Given the description of an element on the screen output the (x, y) to click on. 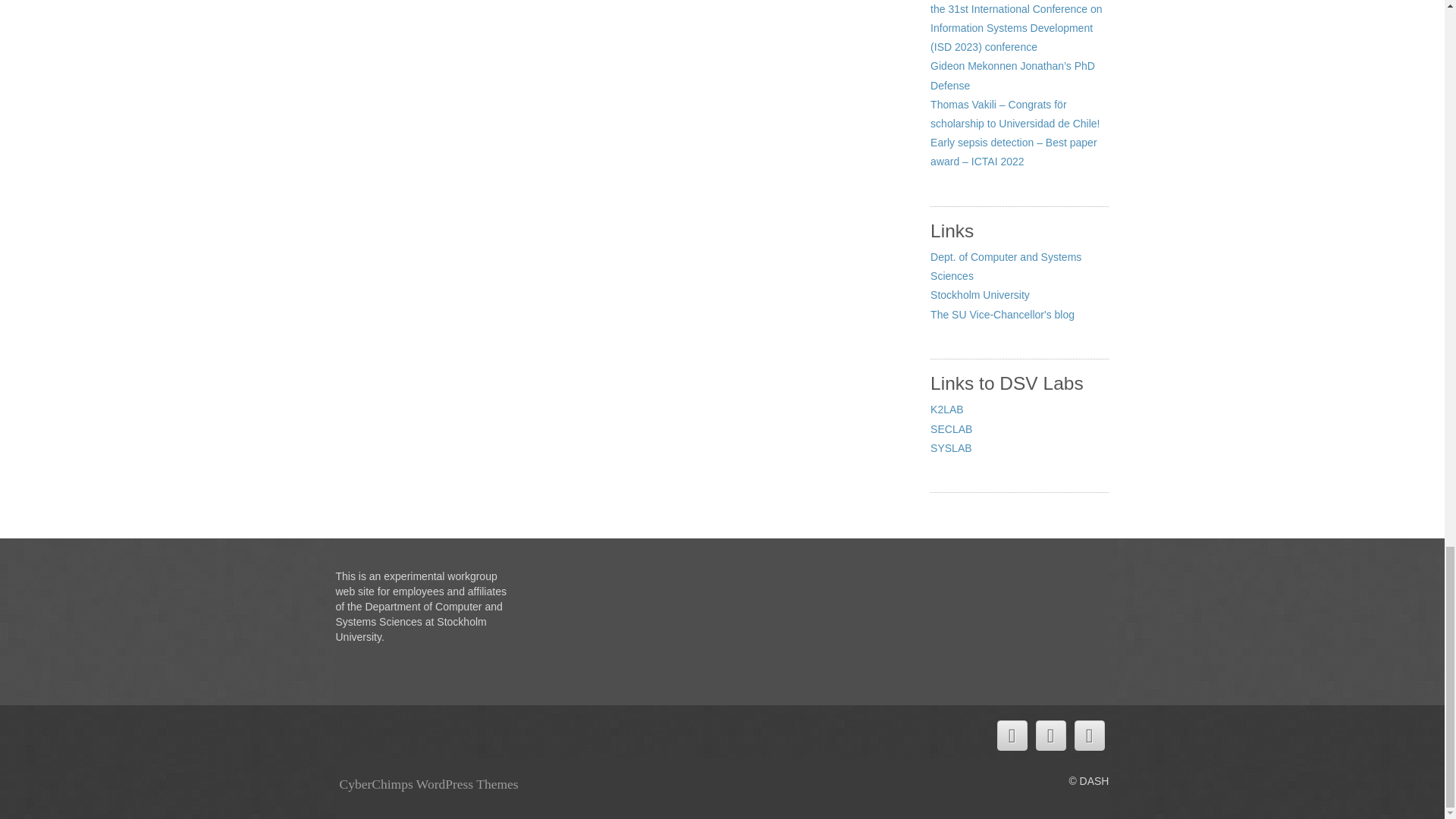
DASH Googleplus (1088, 735)
DASH Twitter (1010, 735)
DASH Facebook (1050, 735)
